Given the description of an element on the screen output the (x, y) to click on. 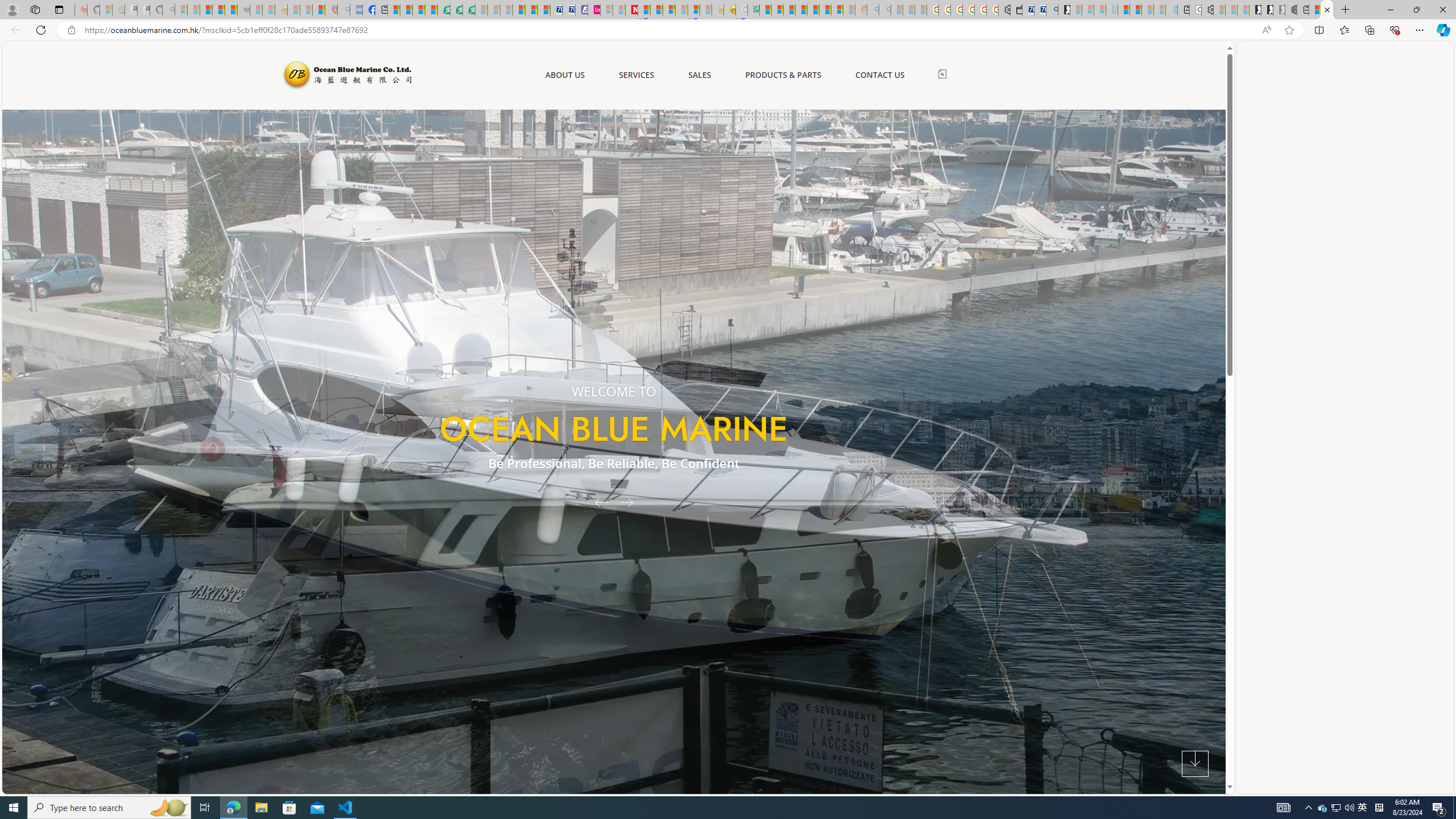
SALES (699, 75)
Cheap Hotels - Save70.com (568, 9)
SERVICES (636, 74)
SERVICES (636, 75)
Microsoft Word - consumer-privacy address update 2.2021 (468, 9)
